Given the description of an element on the screen output the (x, y) to click on. 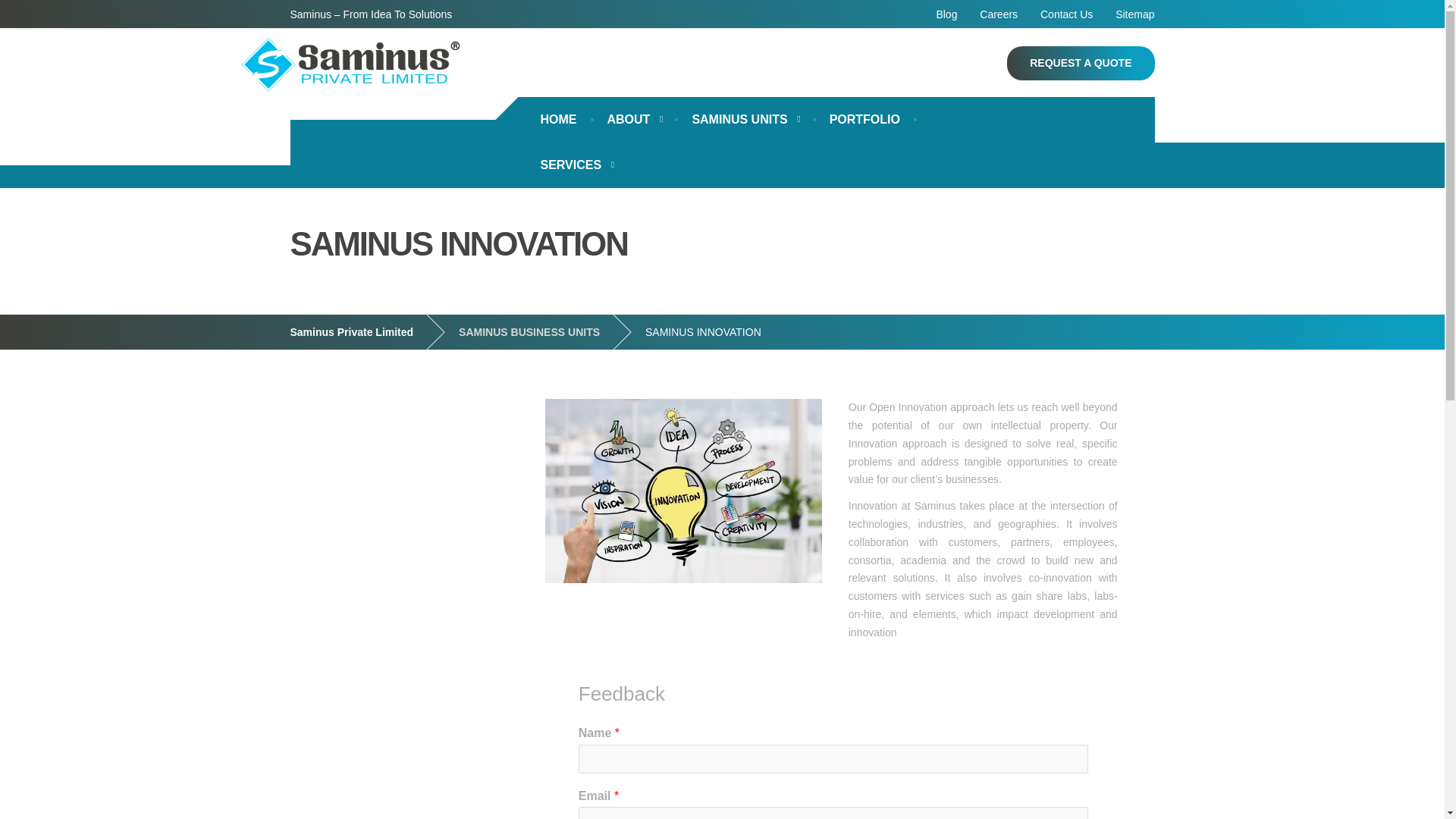
Careers (998, 13)
REQUEST A QUOTE (1080, 62)
Blog (946, 13)
Go to SAMINUS BUSINESS UNITS. (540, 331)
ABOUT (634, 119)
HOME (557, 119)
PORTFOLIO (864, 119)
SAMINUS BUSINESS UNITS (540, 331)
Go to Saminus Private Limited. (362, 331)
Sitemap (1129, 13)
